Given the description of an element on the screen output the (x, y) to click on. 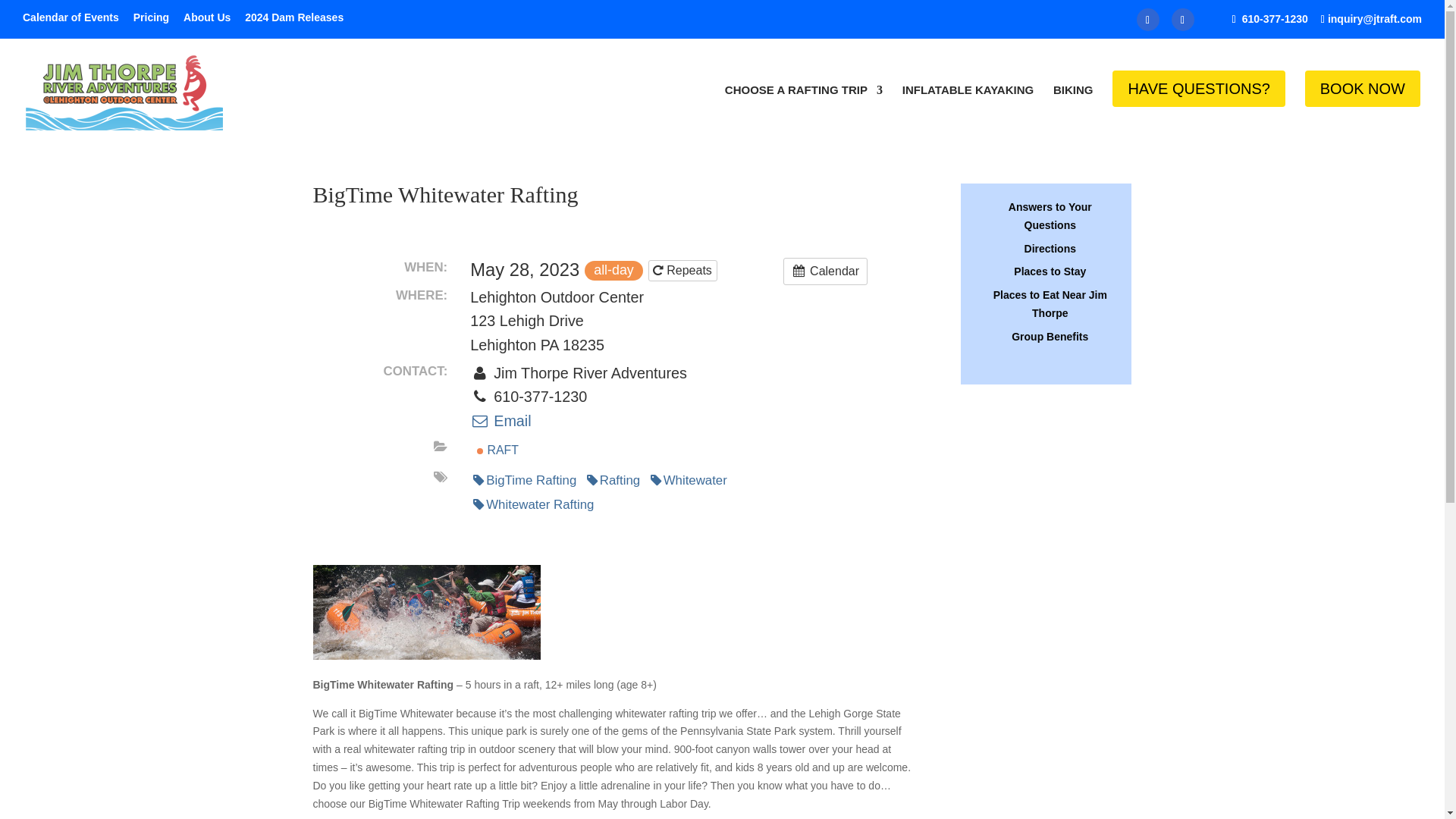
INFLATABLE KAYAKING (967, 106)
Calendar of Events (71, 21)
Repeats (682, 270)
Rafting (613, 481)
Pricing (150, 21)
BigTime Rafting (524, 481)
Tags (439, 477)
Calendar (825, 271)
View all events (825, 271)
RAFT (497, 450)
BOOK NOW (1362, 104)
CHOOSE A RAFTING TRIP (803, 106)
BIKING (1072, 106)
About Us (206, 21)
Categories (439, 447)
